Given the description of an element on the screen output the (x, y) to click on. 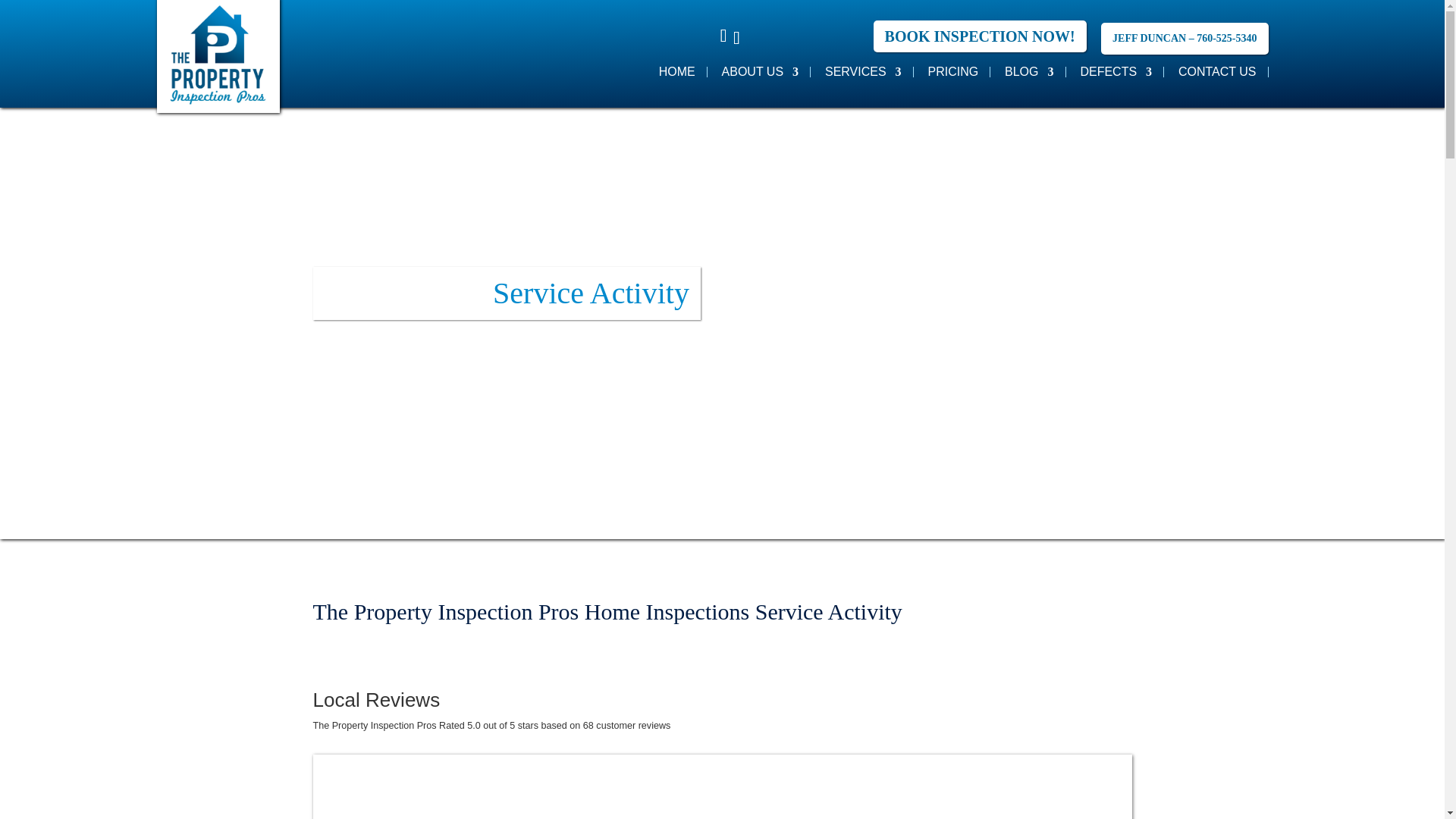
ABOUT US (760, 71)
HOME (677, 71)
SERVICES (863, 71)
PRICING (952, 71)
BOOK INSPECTION NOW! (979, 36)
DEFECTS (1115, 71)
CONTACT US (1216, 71)
BLOG (1028, 71)
